Given the description of an element on the screen output the (x, y) to click on. 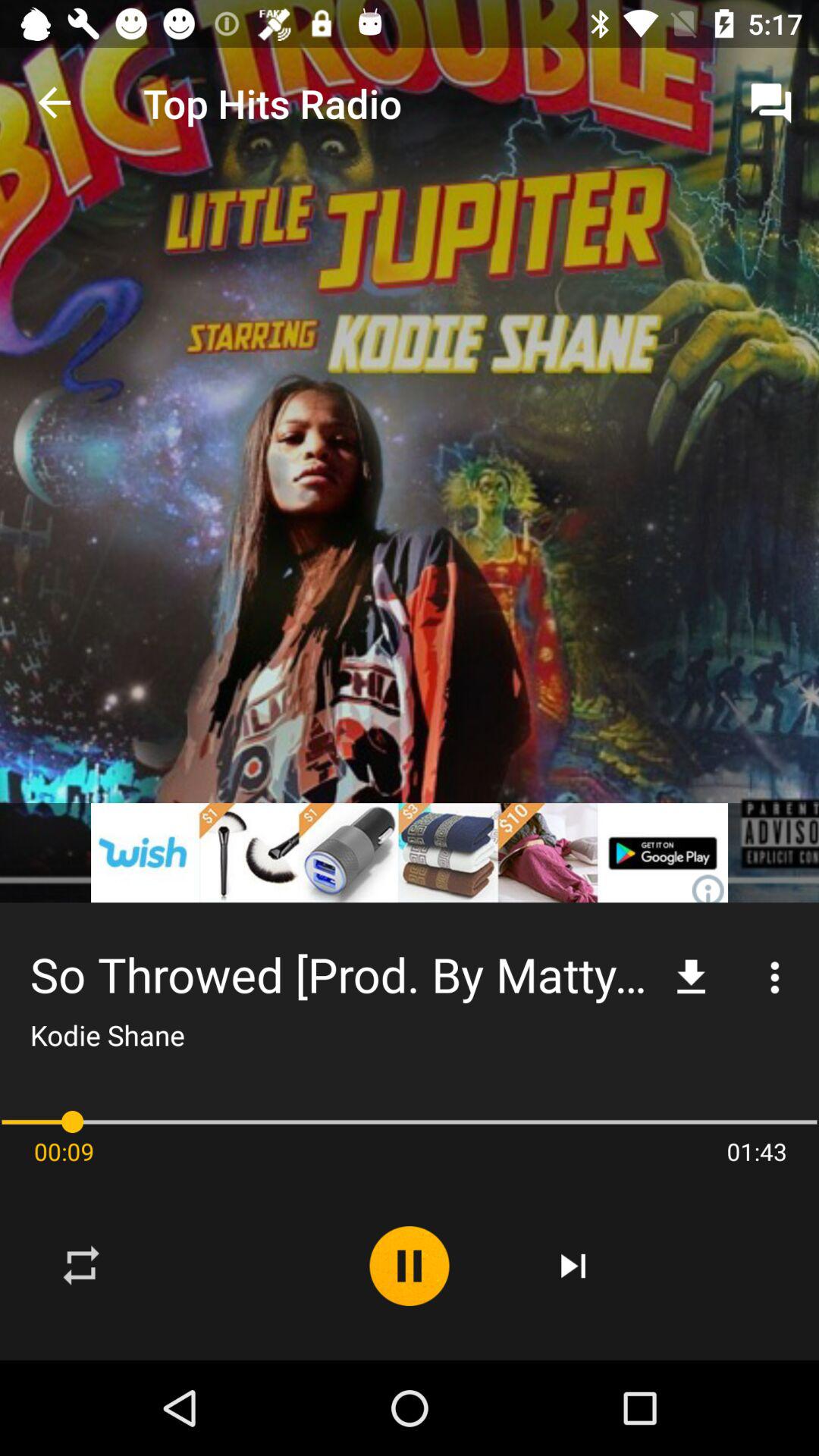
launch item next to the so throwed prod item (691, 977)
